Given the description of an element on the screen output the (x, y) to click on. 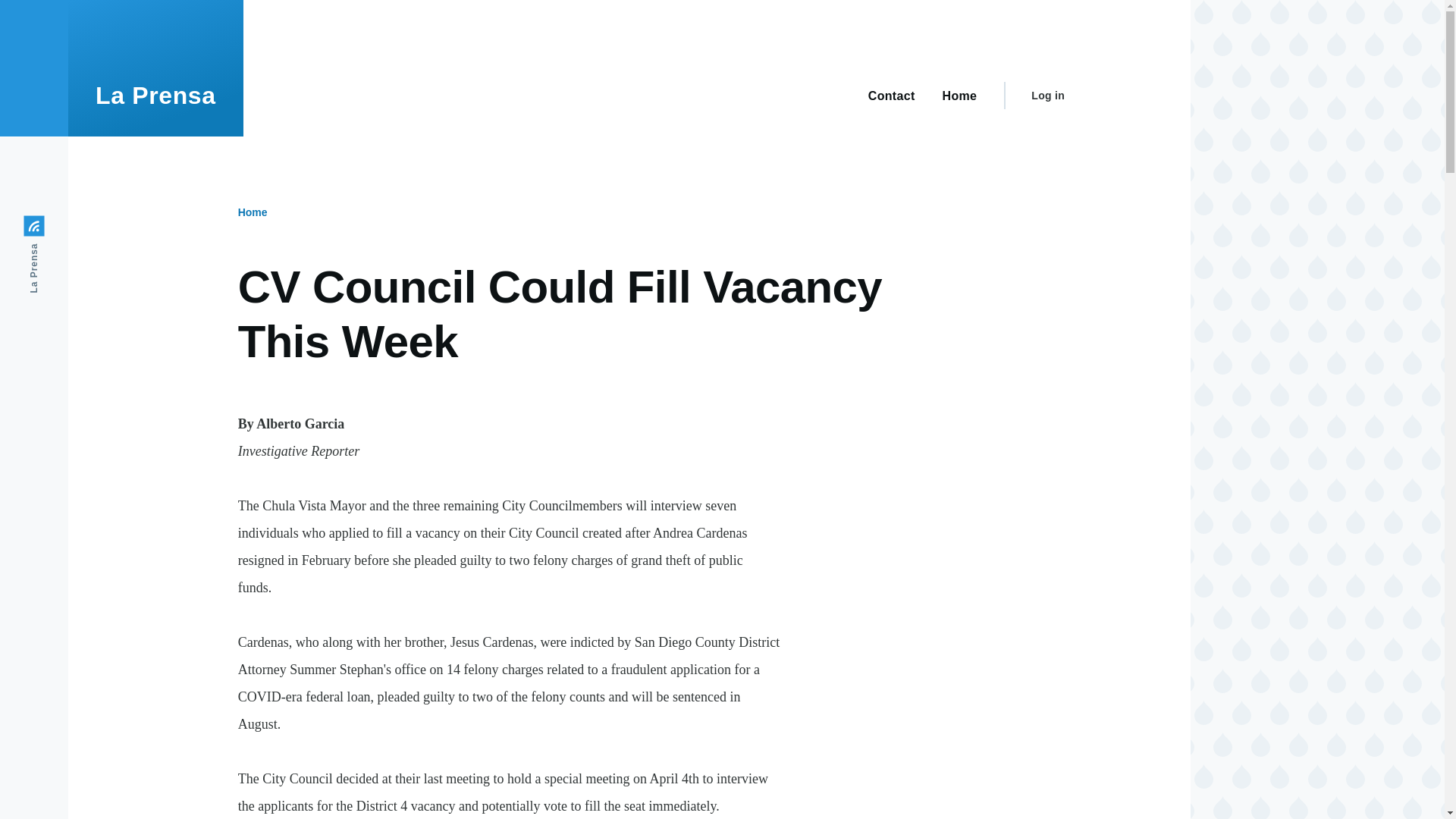
Home (155, 94)
Skip to main content (595, 6)
Home (252, 212)
La Prensa (62, 225)
La Prensa (155, 94)
Log in (1047, 94)
